Given the description of an element on the screen output the (x, y) to click on. 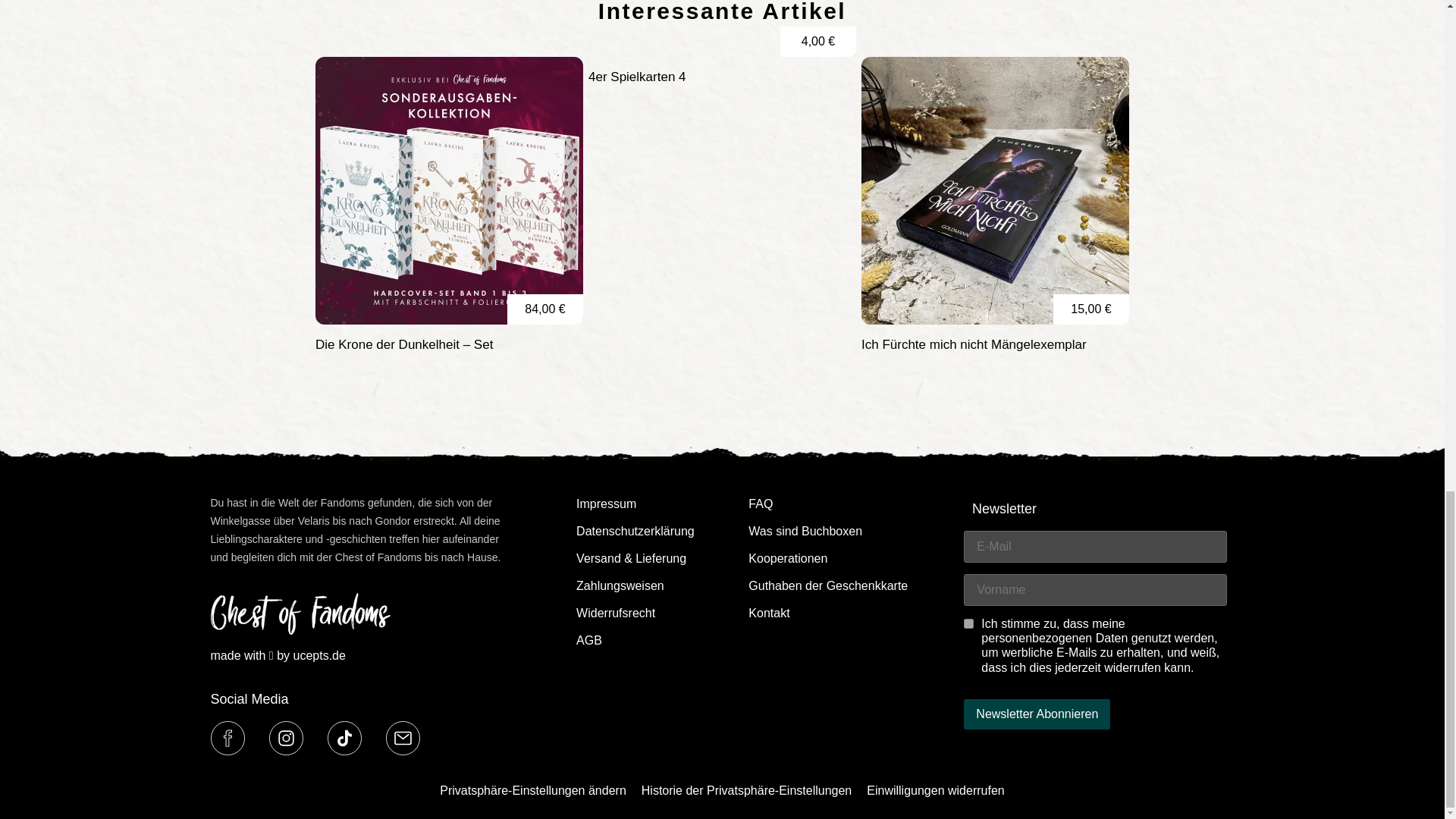
Newsletter Abonnieren (1036, 714)
krone-der-dunkelheit-grafik (449, 190)
on (968, 623)
